Given the description of an element on the screen output the (x, y) to click on. 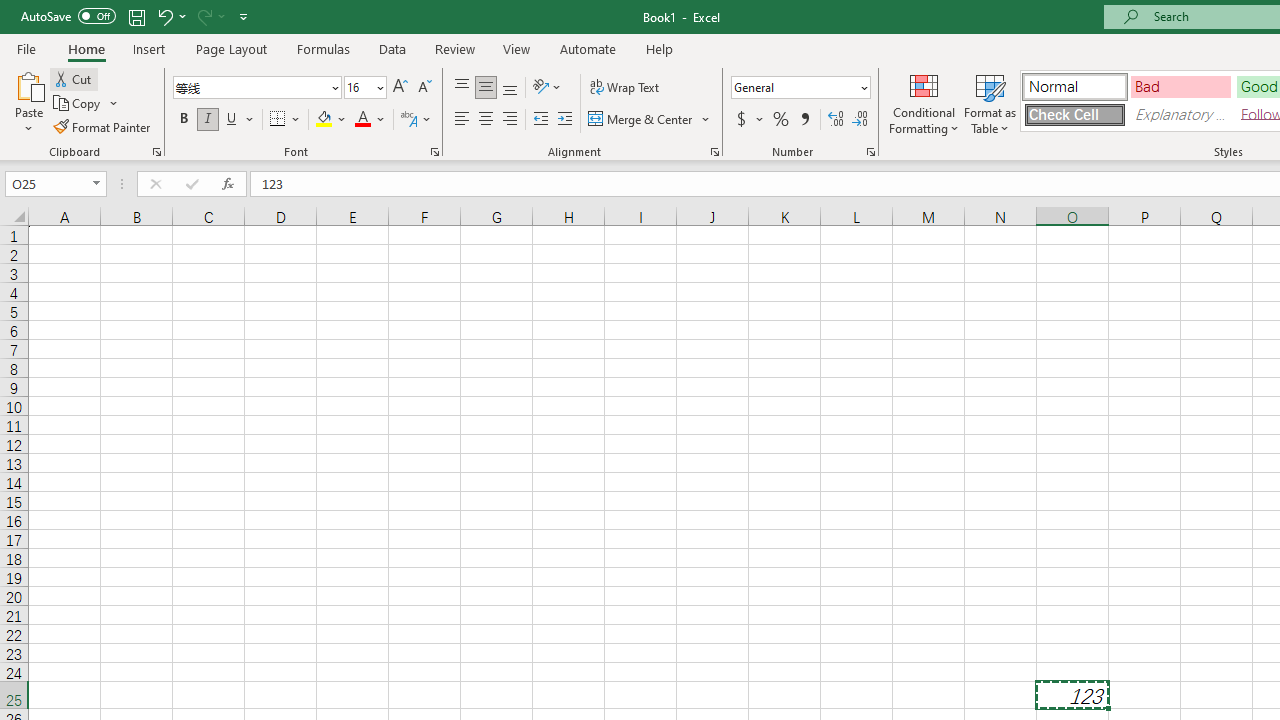
Underline (232, 119)
Accounting Number Format (741, 119)
Percent Style (781, 119)
Italic (207, 119)
Paste (28, 84)
Format Cell Alignment (714, 151)
Font Color RGB(255, 0, 0) (362, 119)
Font Size (365, 87)
Decrease Font Size (424, 87)
